Given the description of an element on the screen output the (x, y) to click on. 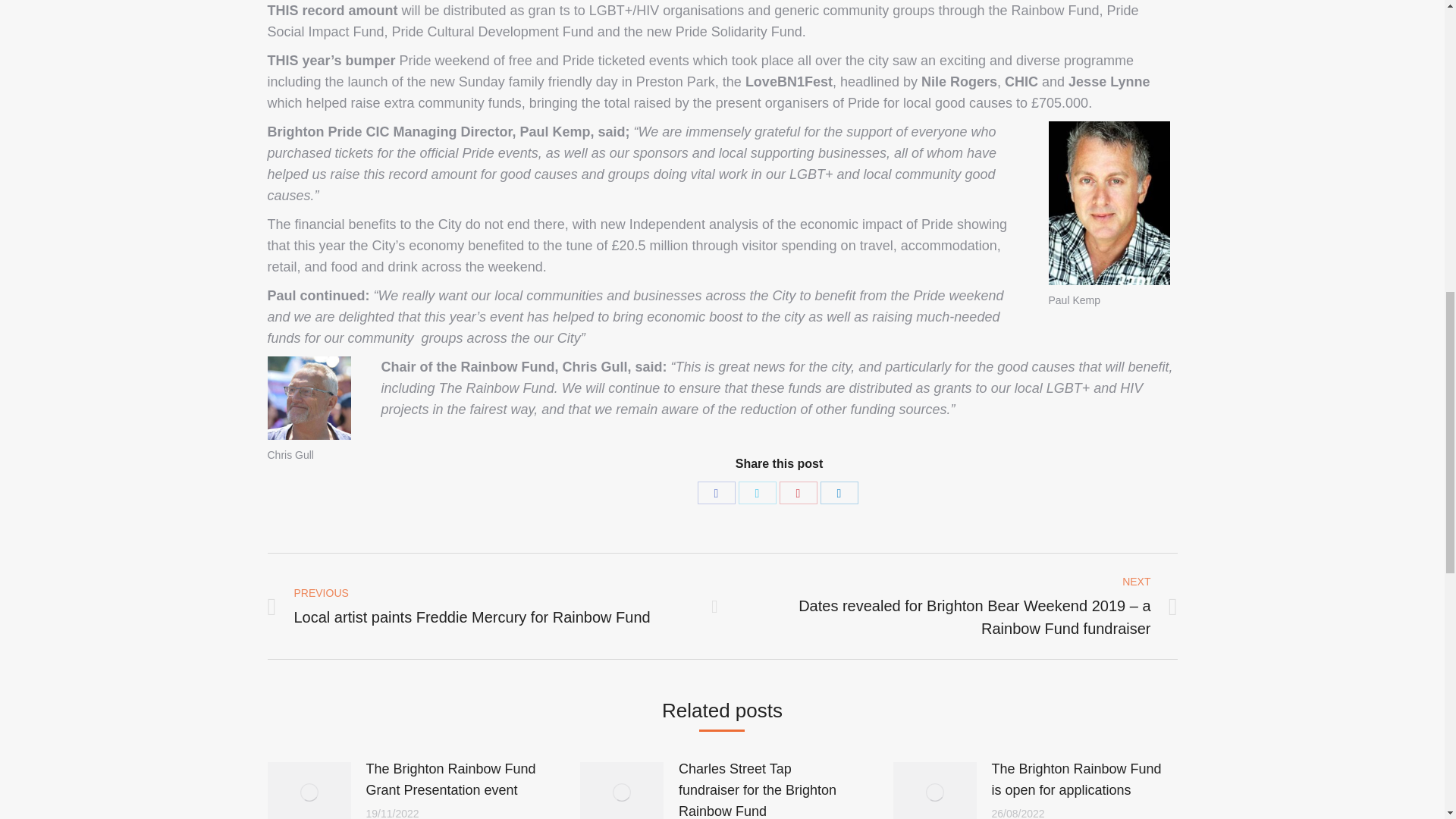
Pinterest (797, 492)
LinkedIn (840, 492)
Twitter (757, 492)
Facebook (716, 492)
